Given the description of an element on the screen output the (x, y) to click on. 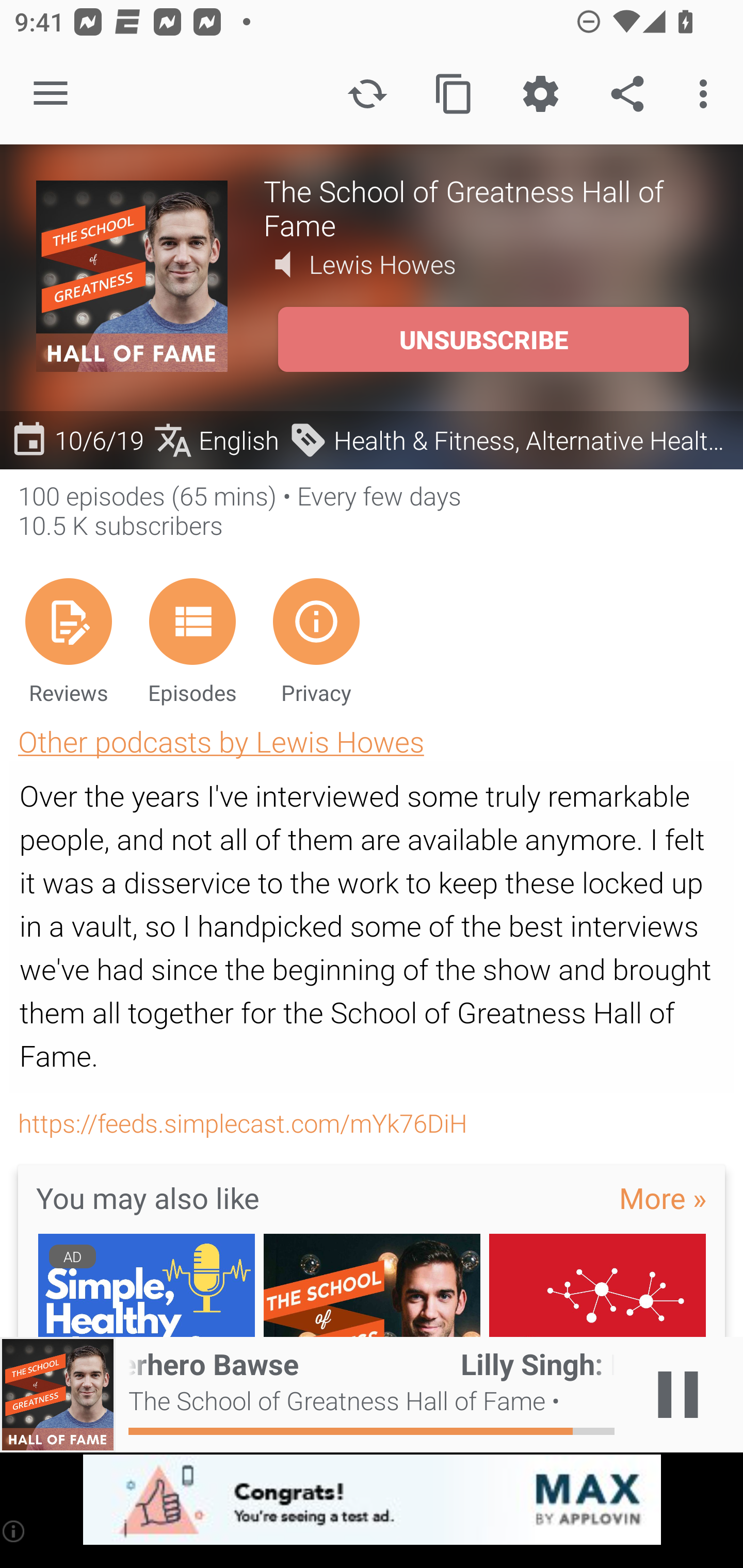
Open navigation sidebar (50, 93)
Refresh podcast description (366, 93)
Copy feed url to clipboard (453, 93)
Custom Settings (540, 93)
Share the podcast (626, 93)
More options (706, 93)
The School of Greatness Hall of Fame (484, 207)
Lewis Howes (382, 263)
UNSUBSCRIBE (482, 339)
Reviews (68, 640)
Episodes (192, 640)
Privacy (315, 640)
Other podcasts by Lewis Howes (220, 740)
More » (662, 1196)
Play / Pause (677, 1394)
app-monetization (371, 1500)
(i) (14, 1531)
